Given the description of an element on the screen output the (x, y) to click on. 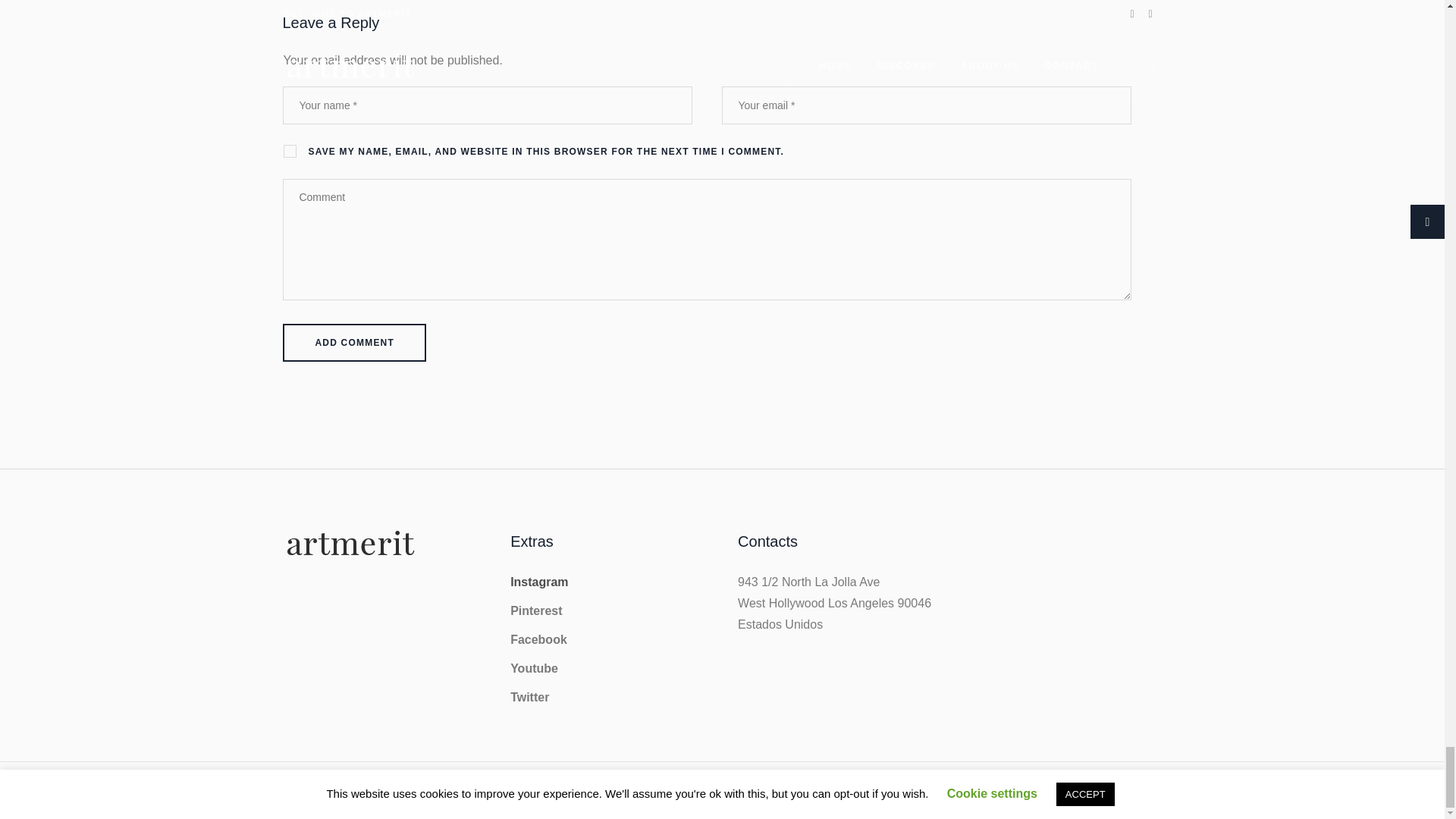
Add Comment (354, 342)
Instagram (539, 581)
Add Comment (354, 342)
